Given the description of an element on the screen output the (x, y) to click on. 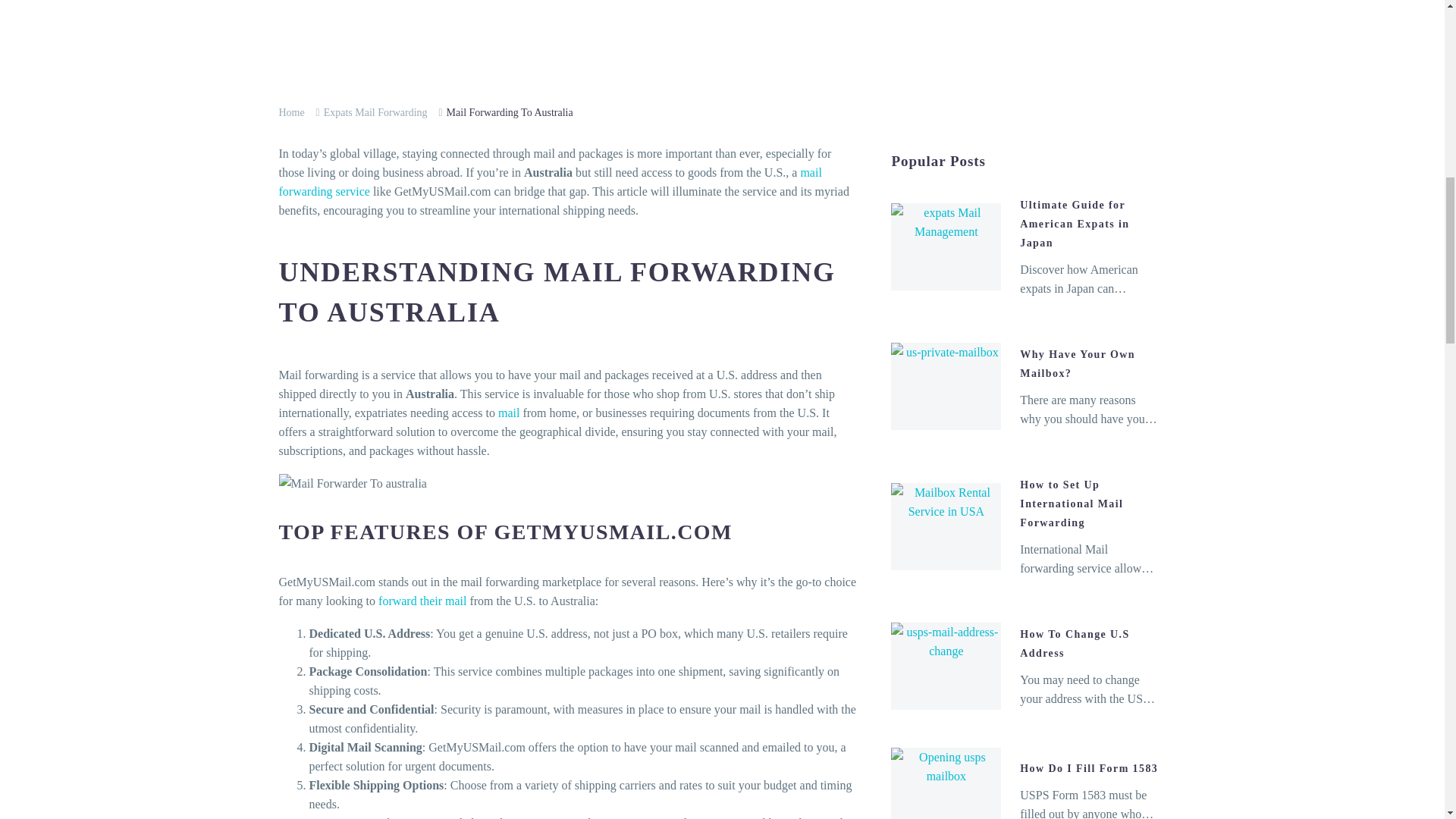
Getting a U.S Mailbox Address Is Easy (550, 182)
Mailboxes For Expats In France (1059, 15)
Ultimate Guide for American Expats in Japan (821, 24)
